Given the description of an element on the screen output the (x, y) to click on. 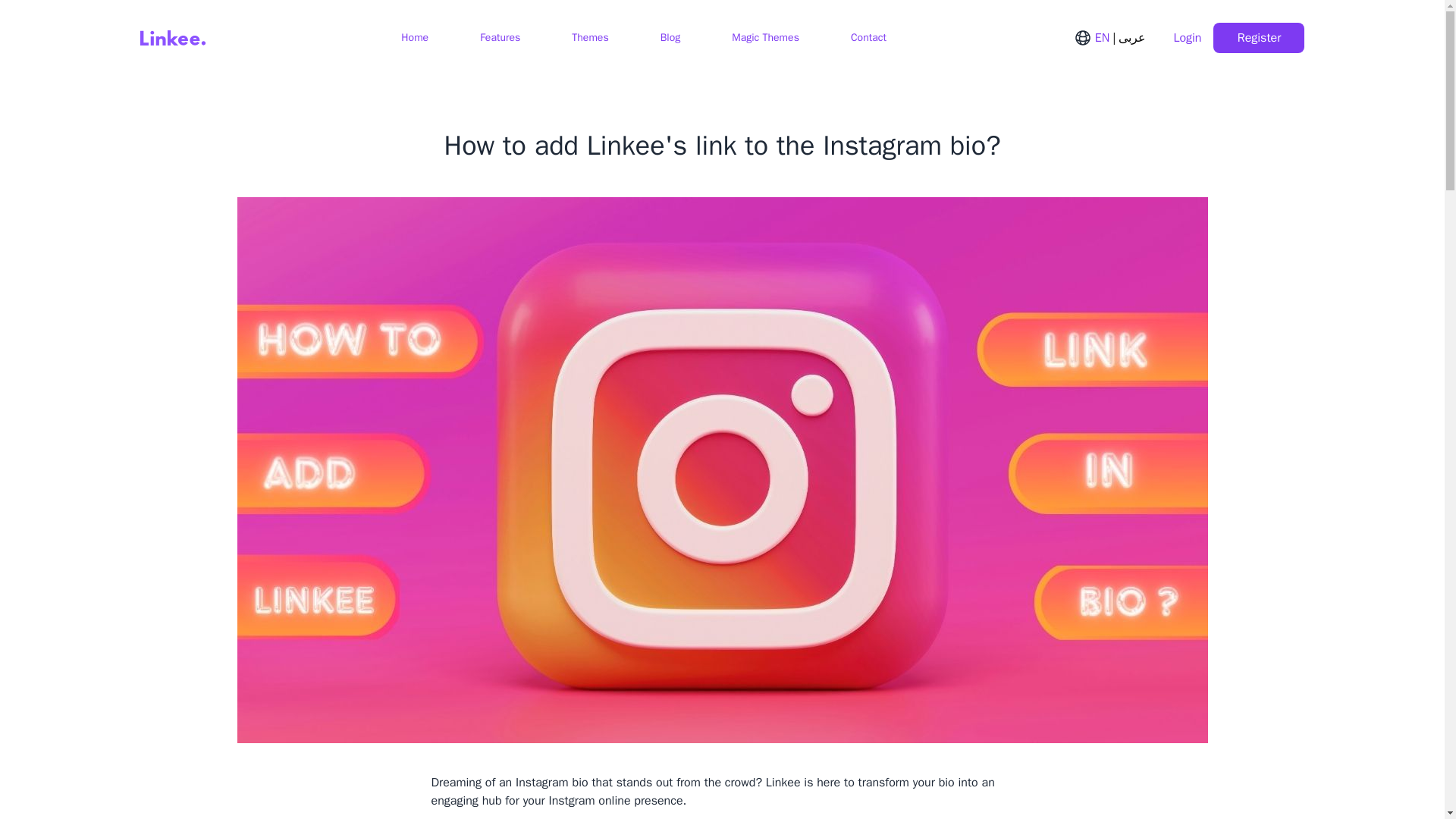
Login (1184, 37)
Blog (669, 37)
Features (498, 37)
Themes (588, 37)
Contact (866, 37)
Home (413, 37)
Register (1258, 37)
Magic Themes (763, 37)
